Given the description of an element on the screen output the (x, y) to click on. 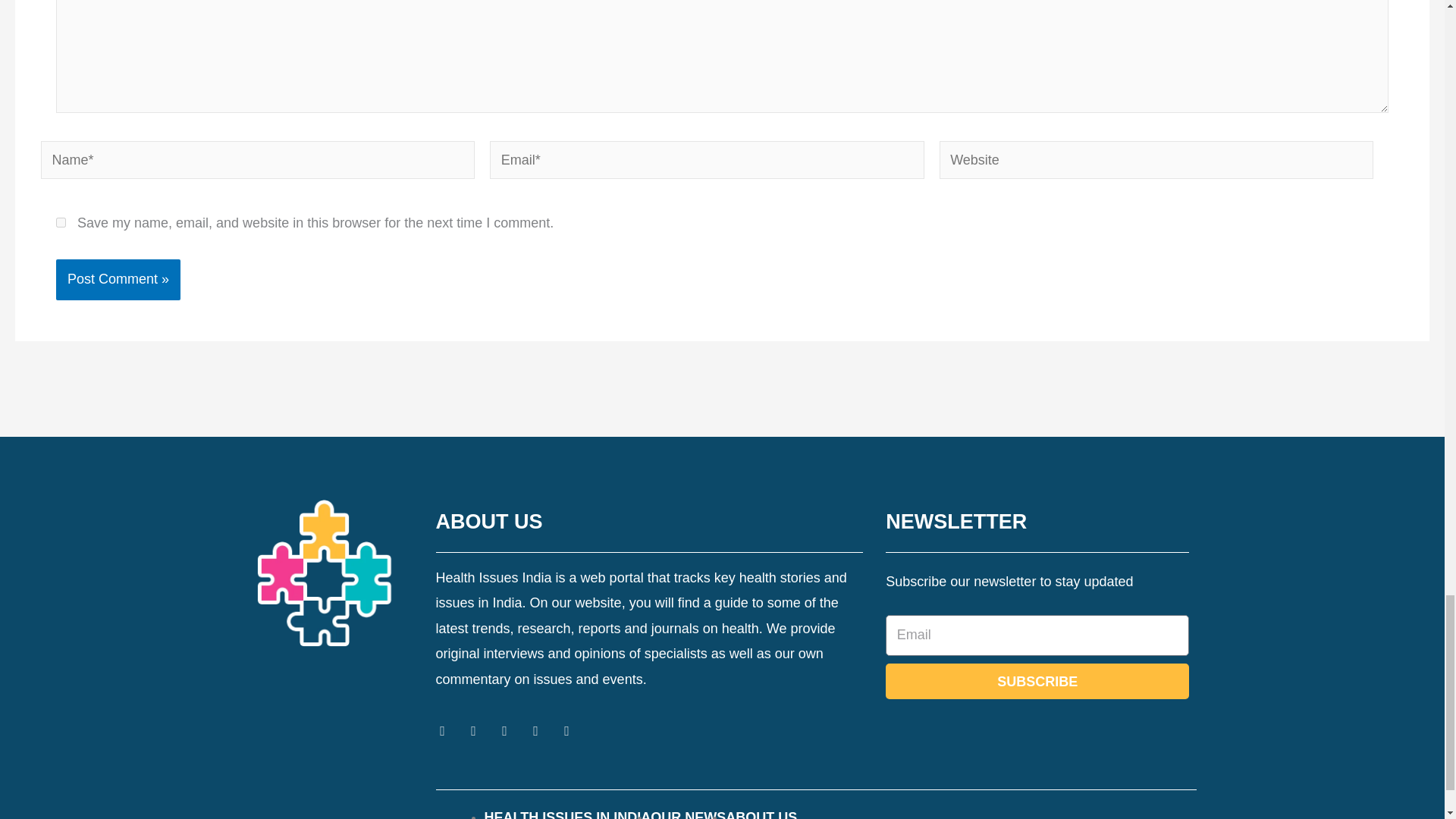
yes (60, 221)
